Given the description of an element on the screen output the (x, y) to click on. 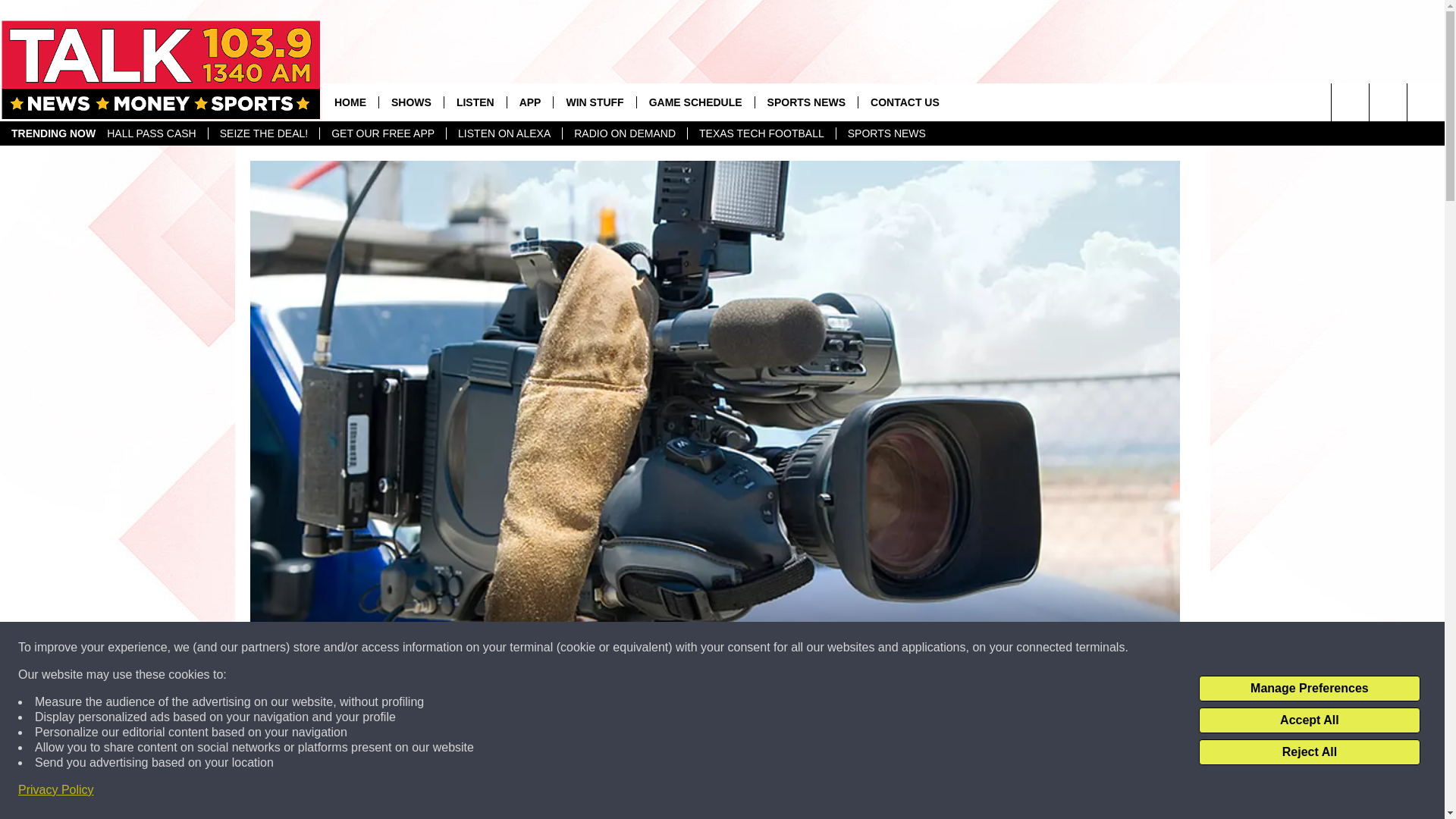
SPORTS NEWS (886, 133)
Manage Preferences (1309, 688)
WIN STUFF (593, 102)
HALL PASS CASH (152, 133)
HOME (349, 102)
GAME SCHEDULE (695, 102)
SHOWS (411, 102)
LISTEN ON ALEXA (503, 133)
Privacy Policy (55, 789)
Share on Twitter (912, 791)
Accept All (1309, 720)
TEXAS TECH FOOTBALL (761, 133)
Share on Facebook (517, 791)
SPORTS NEWS (805, 102)
GET OUR FREE APP (381, 133)
